Given the description of an element on the screen output the (x, y) to click on. 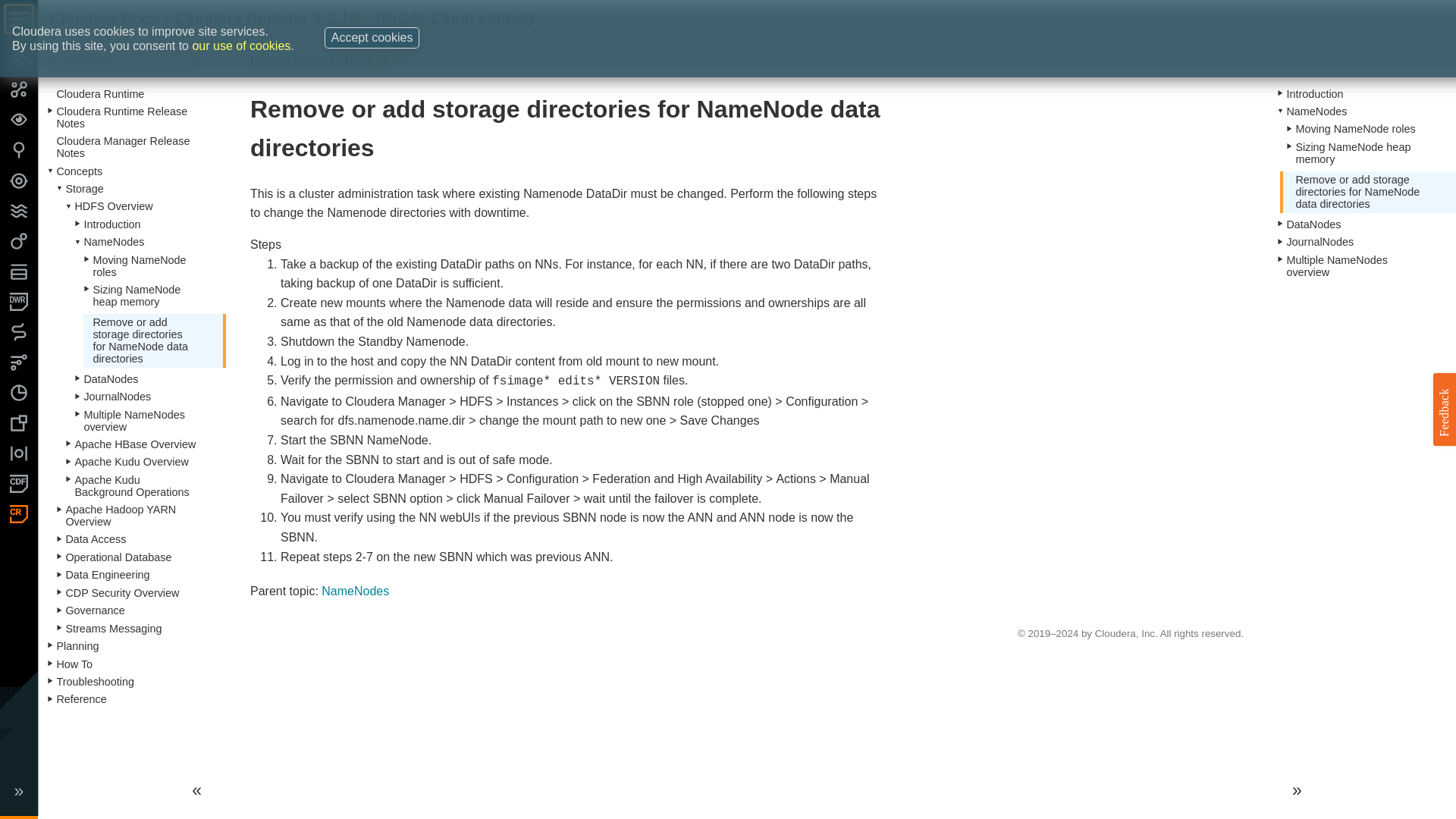
Cloudera Docs (103, 18)
Cloudera Runtime (240, 18)
